Given the description of an element on the screen output the (x, y) to click on. 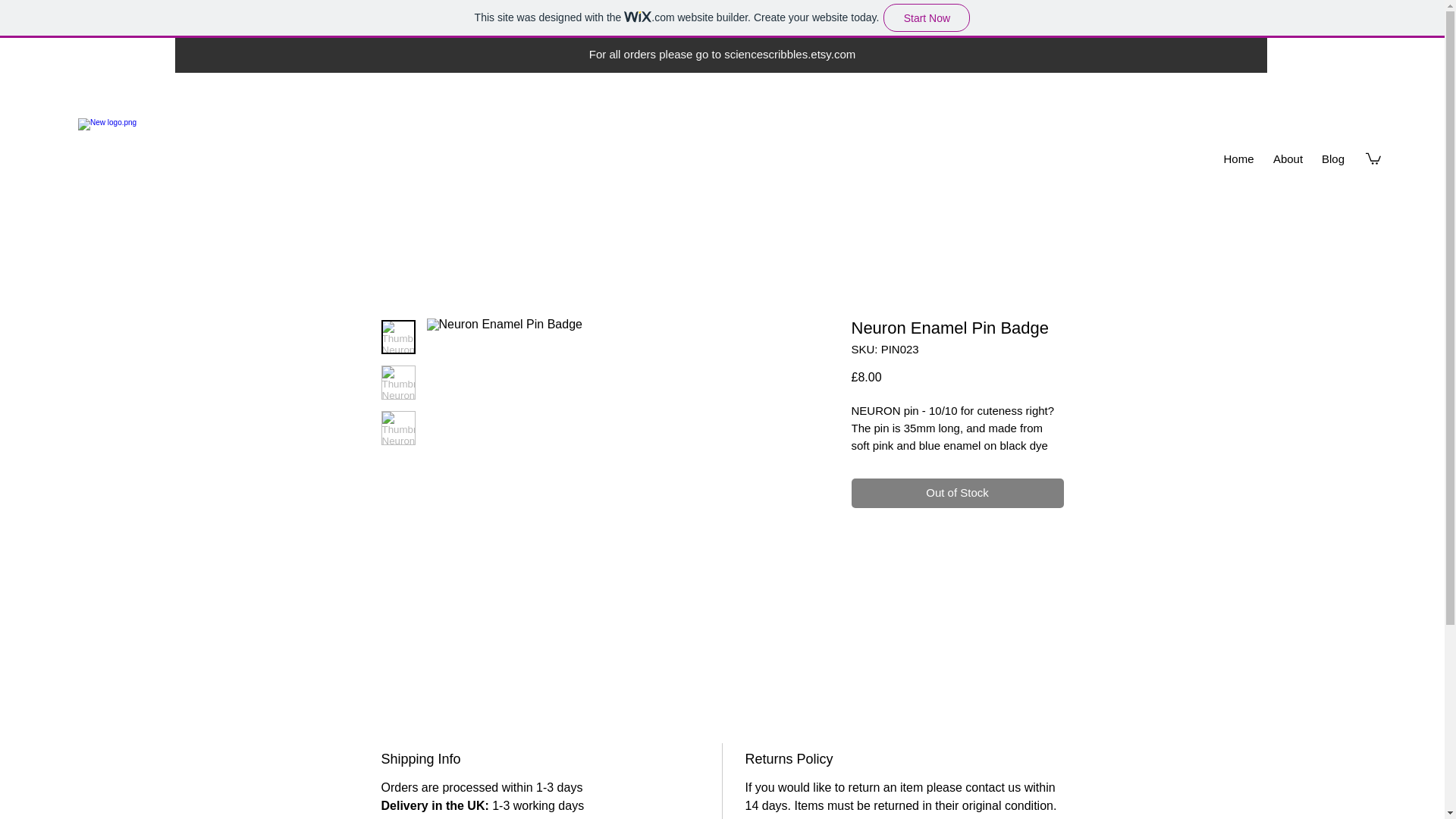
Blog (1333, 159)
Home (1238, 159)
Out of Stock (956, 492)
About (1288, 159)
